Given the description of an element on the screen output the (x, y) to click on. 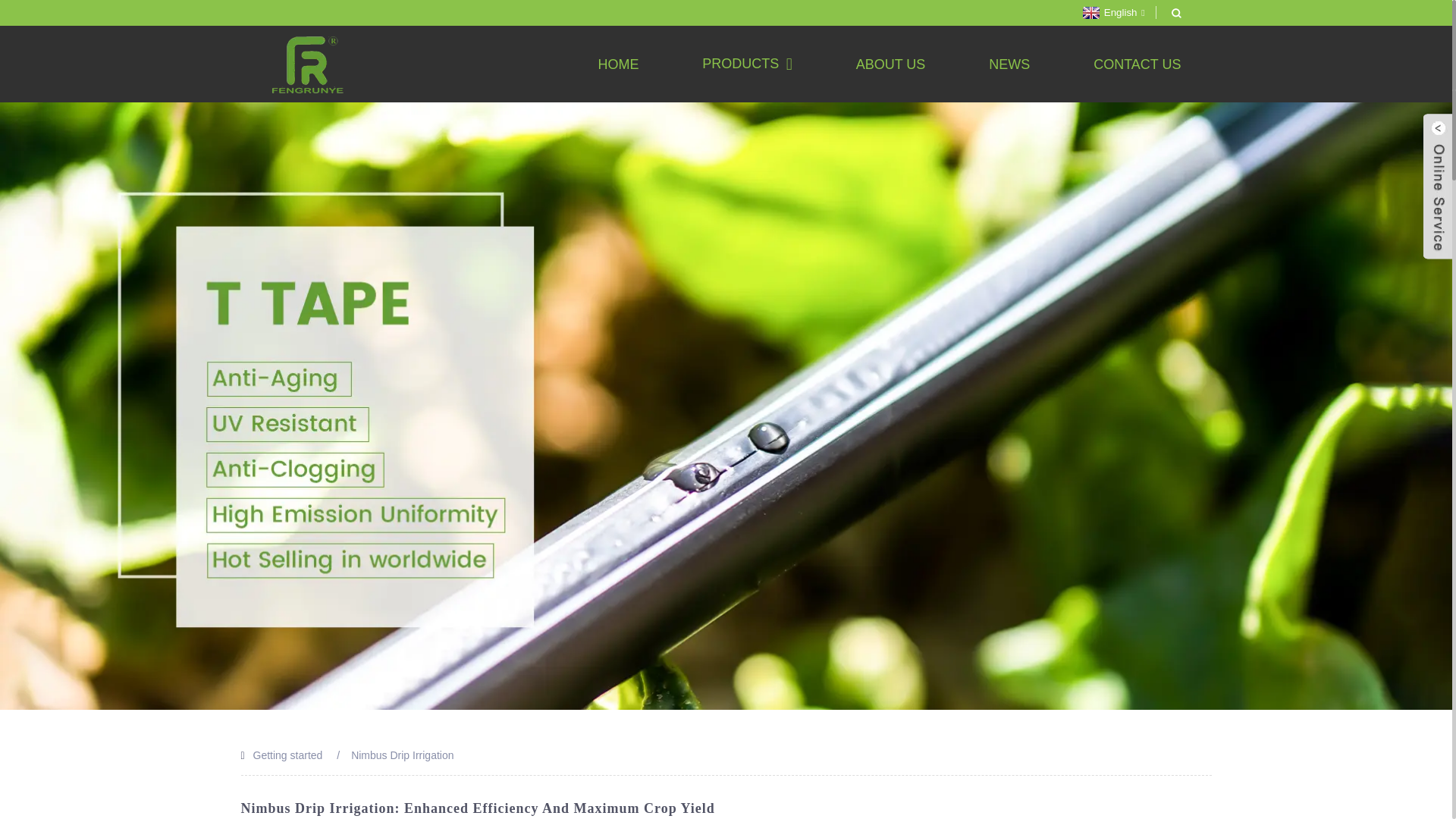
Nimbus Drip Irrigation (401, 755)
ABOUT US (891, 64)
Getting started (288, 755)
PRODUCTS (746, 63)
CONTACT US (1136, 64)
English (1111, 12)
